Given the description of an element on the screen output the (x, y) to click on. 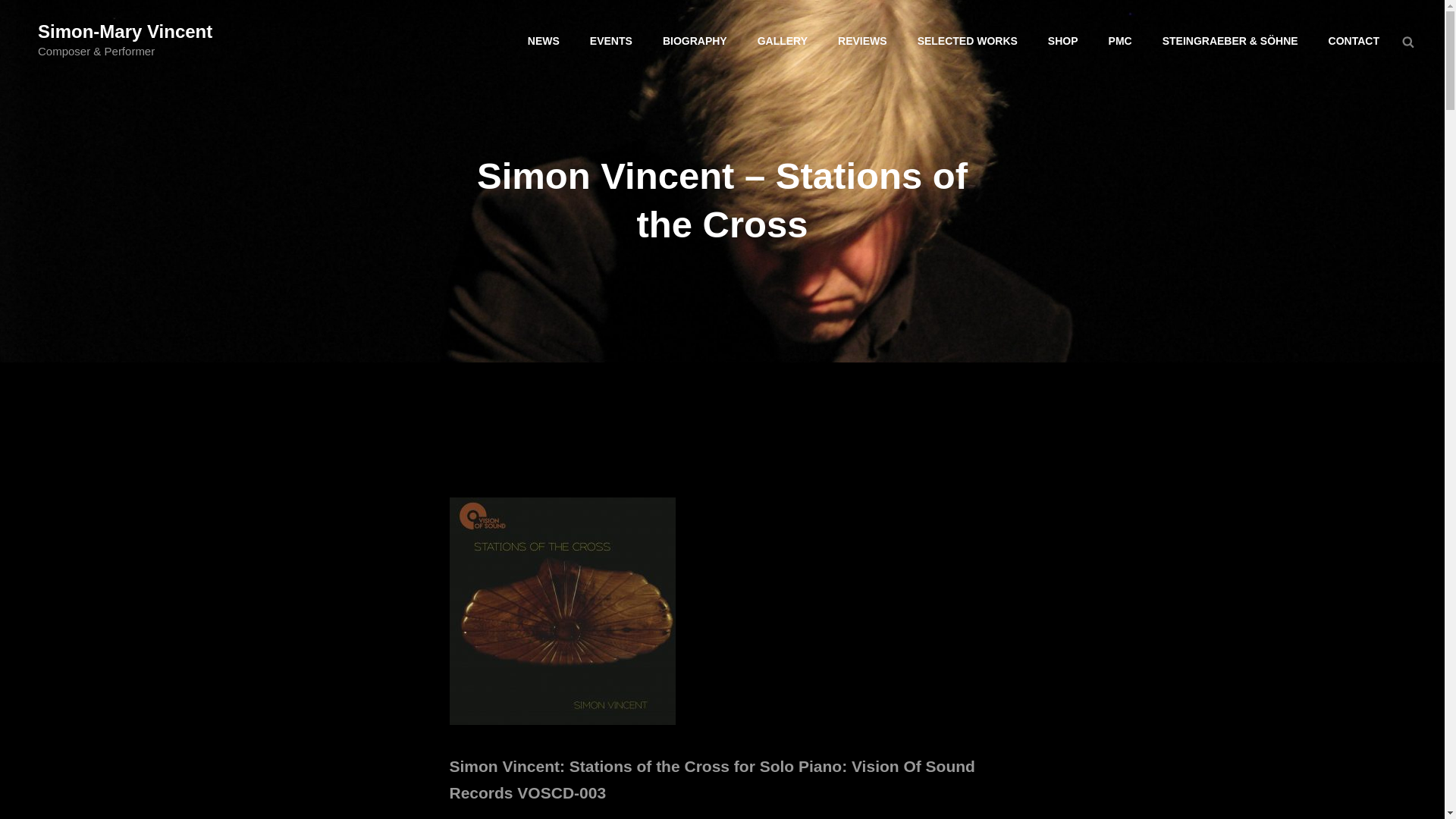
SHOP (1062, 40)
GALLERY (782, 40)
Simon-Mary Vincent (124, 31)
NEWS (543, 40)
CONTACT (1353, 40)
SELECTED WORKS (967, 40)
EVENTS (611, 40)
REVIEWS (862, 40)
PMC (1120, 40)
BIOGRAPHY (694, 40)
